Given the description of an element on the screen output the (x, y) to click on. 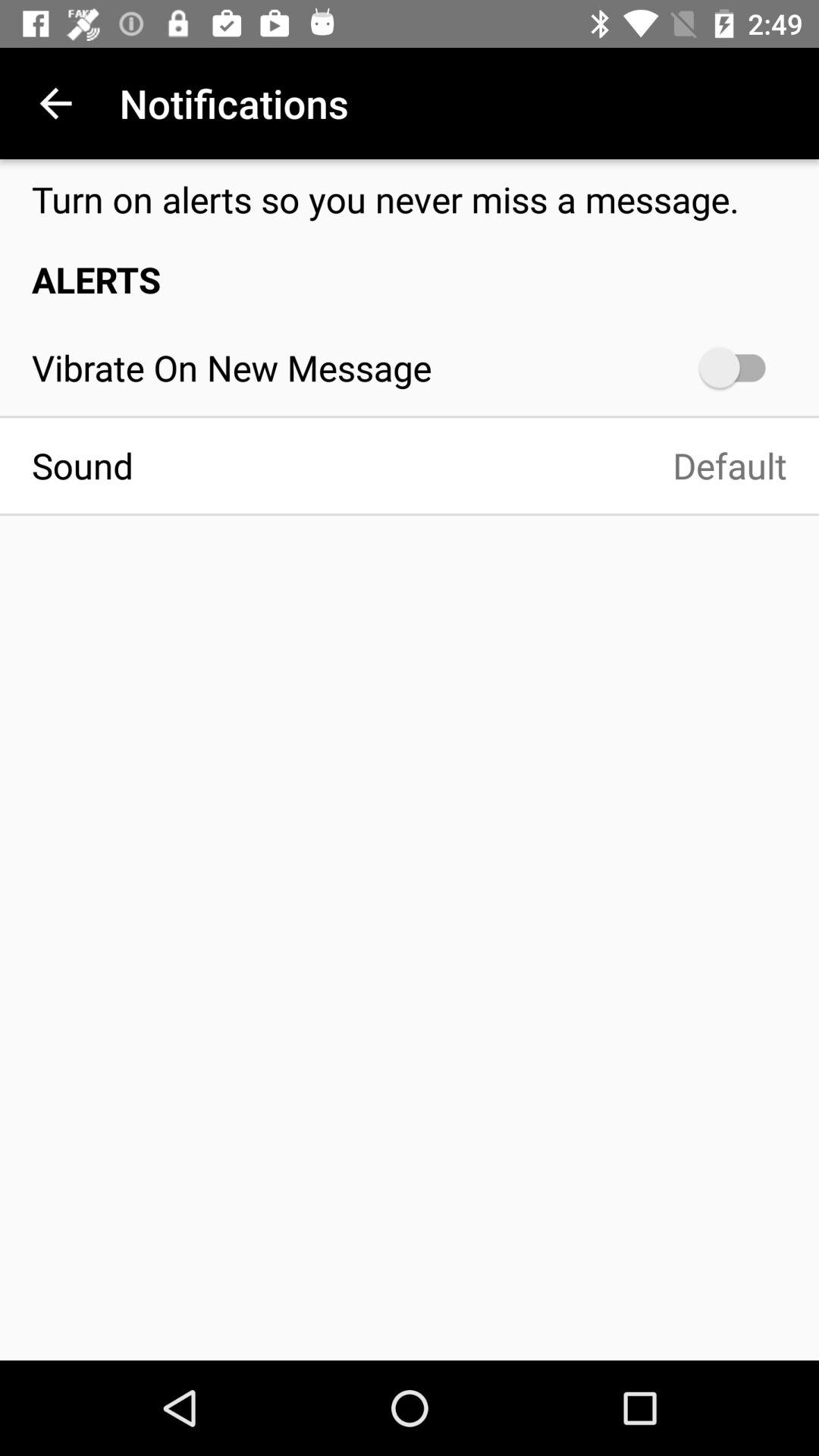
jump until default item (476, 465)
